Given the description of an element on the screen output the (x, y) to click on. 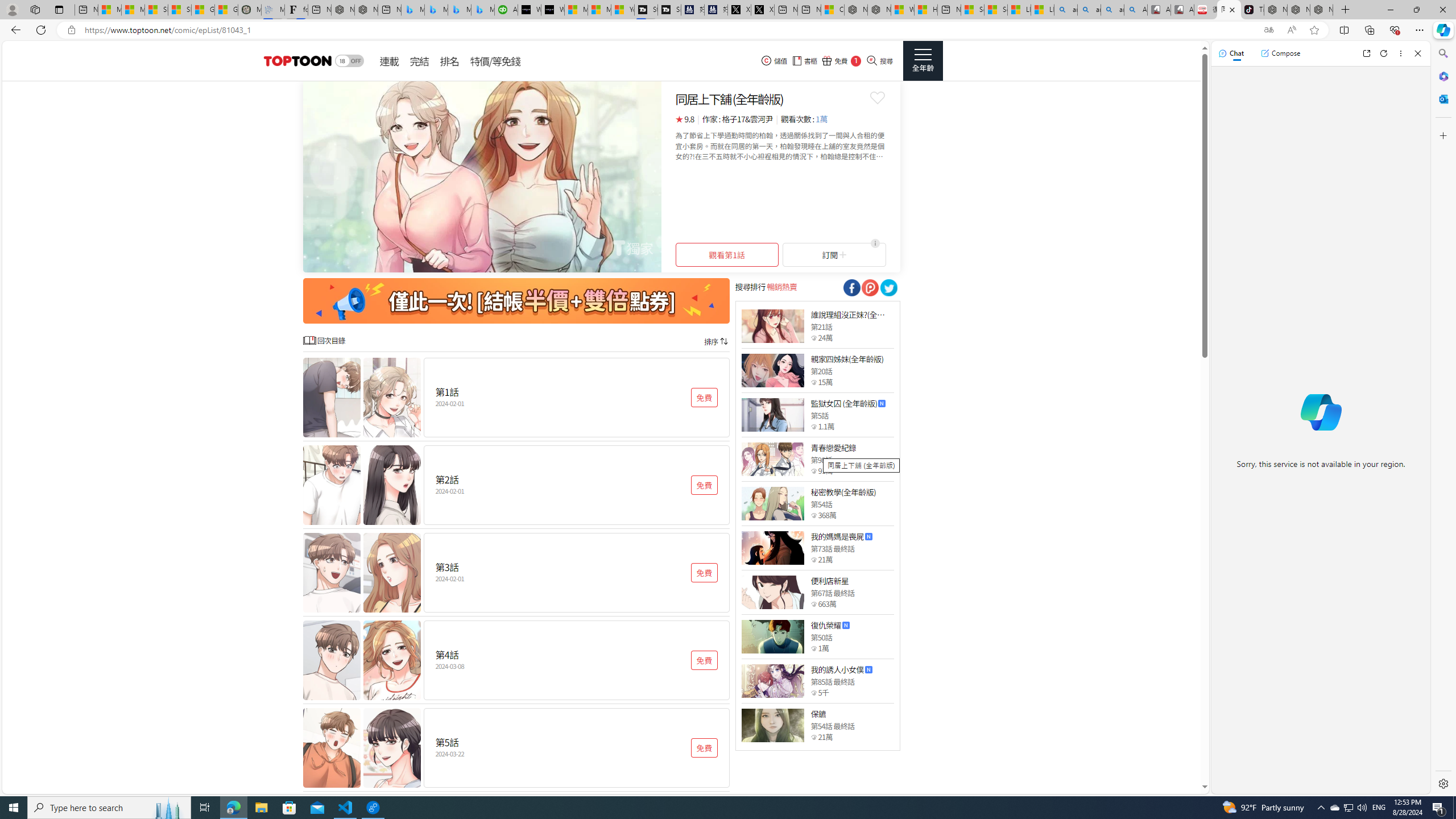
Class:  switch_18mode actionAdultBtn (349, 60)
